Given the description of an element on the screen output the (x, y) to click on. 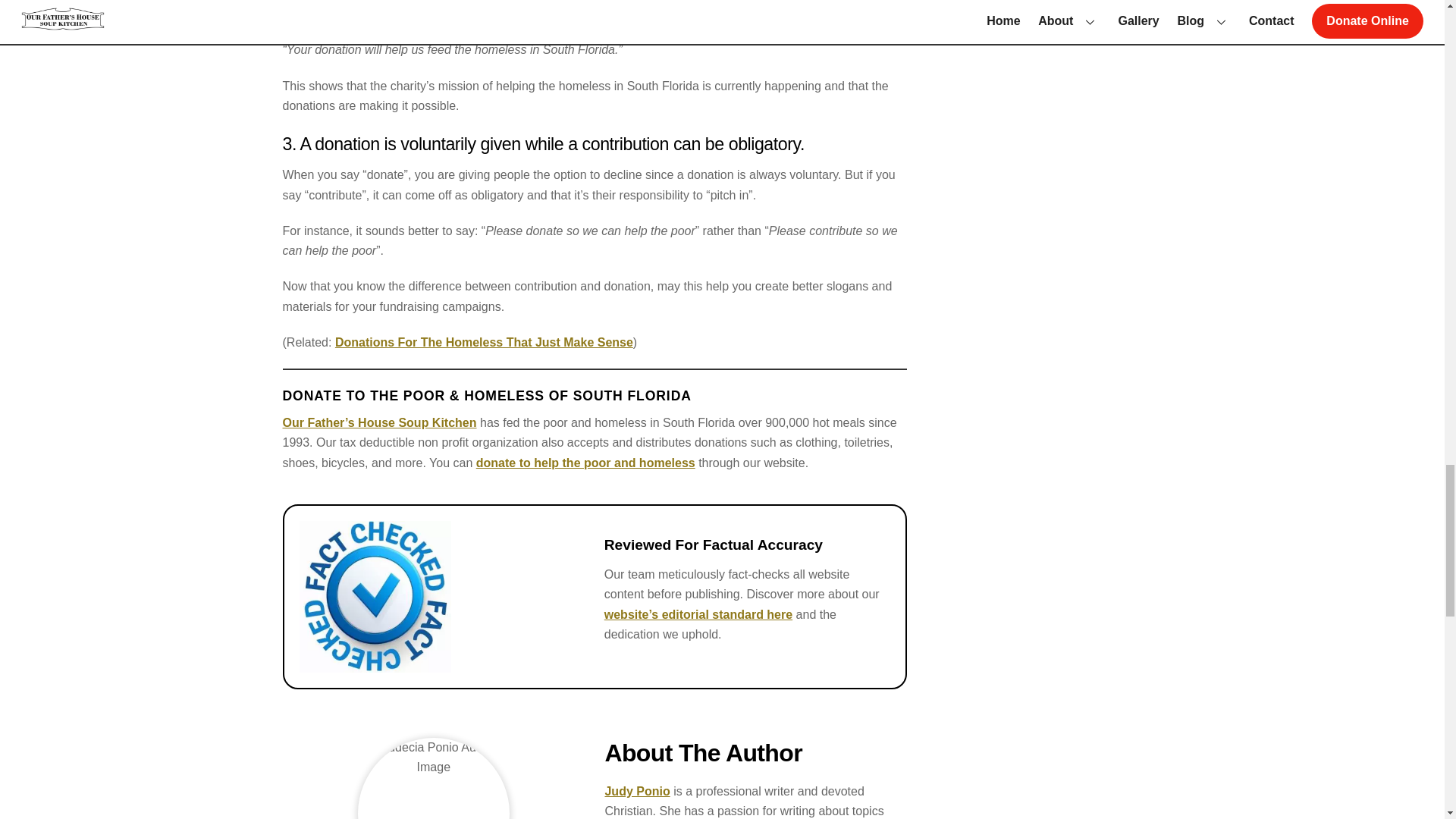
Fact Checked Badge (373, 596)
Donations For The Homeless That Just Make Sense (483, 341)
Judecia Ponio Author Image (433, 778)
Judy Ponio (636, 790)
donate to help the poor and homeless (585, 462)
